Given the description of an element on the screen output the (x, y) to click on. 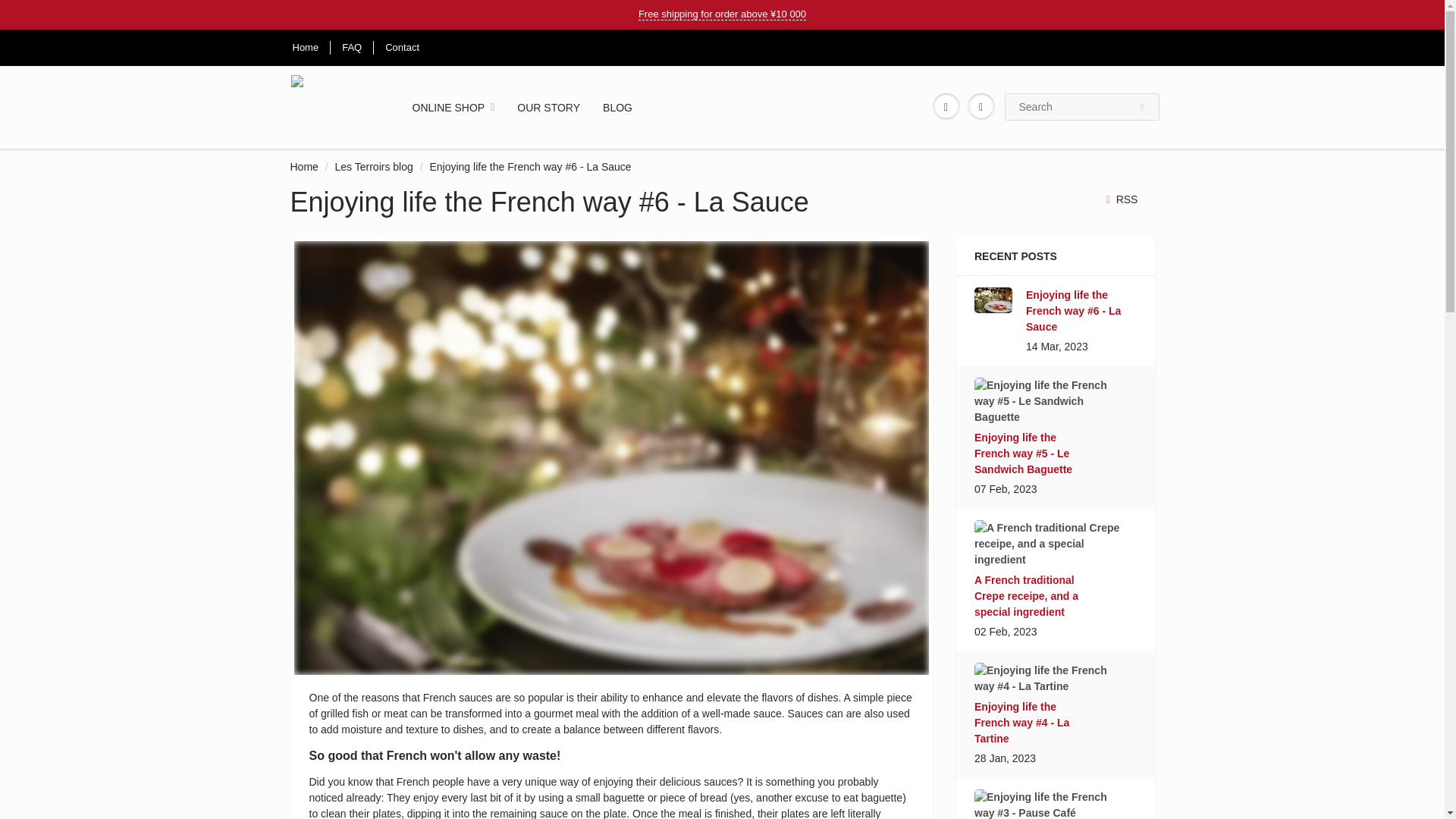
OUR STORY (548, 107)
FAQ (351, 47)
ONLINE SHOP (452, 107)
Home (303, 166)
Contact (402, 47)
Home (305, 47)
